Given the description of an element on the screen output the (x, y) to click on. 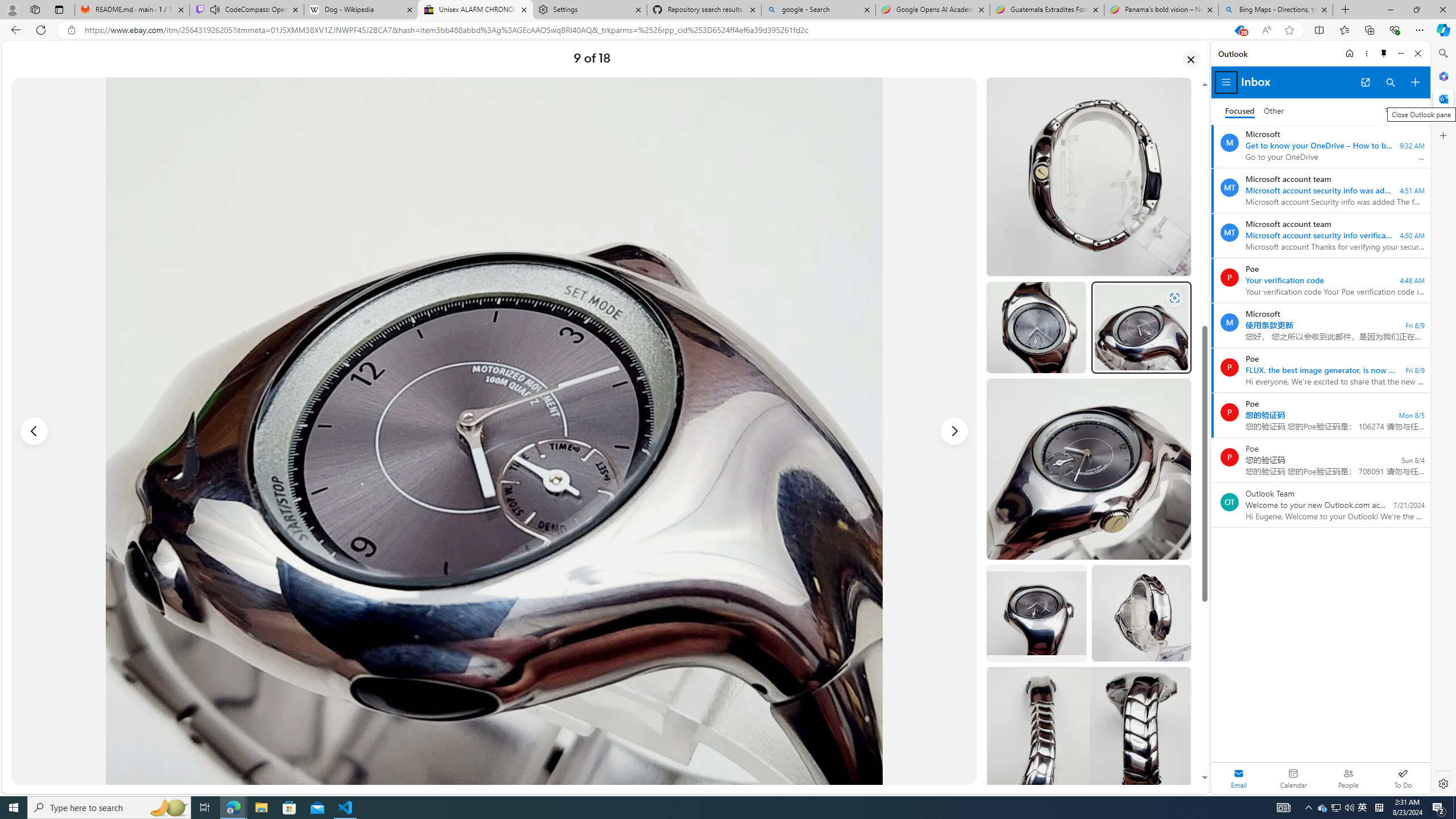
To Do (1402, 777)
Mute tab (215, 8)
People (1347, 777)
Dog - Wikipedia (360, 9)
